Given the description of an element on the screen output the (x, y) to click on. 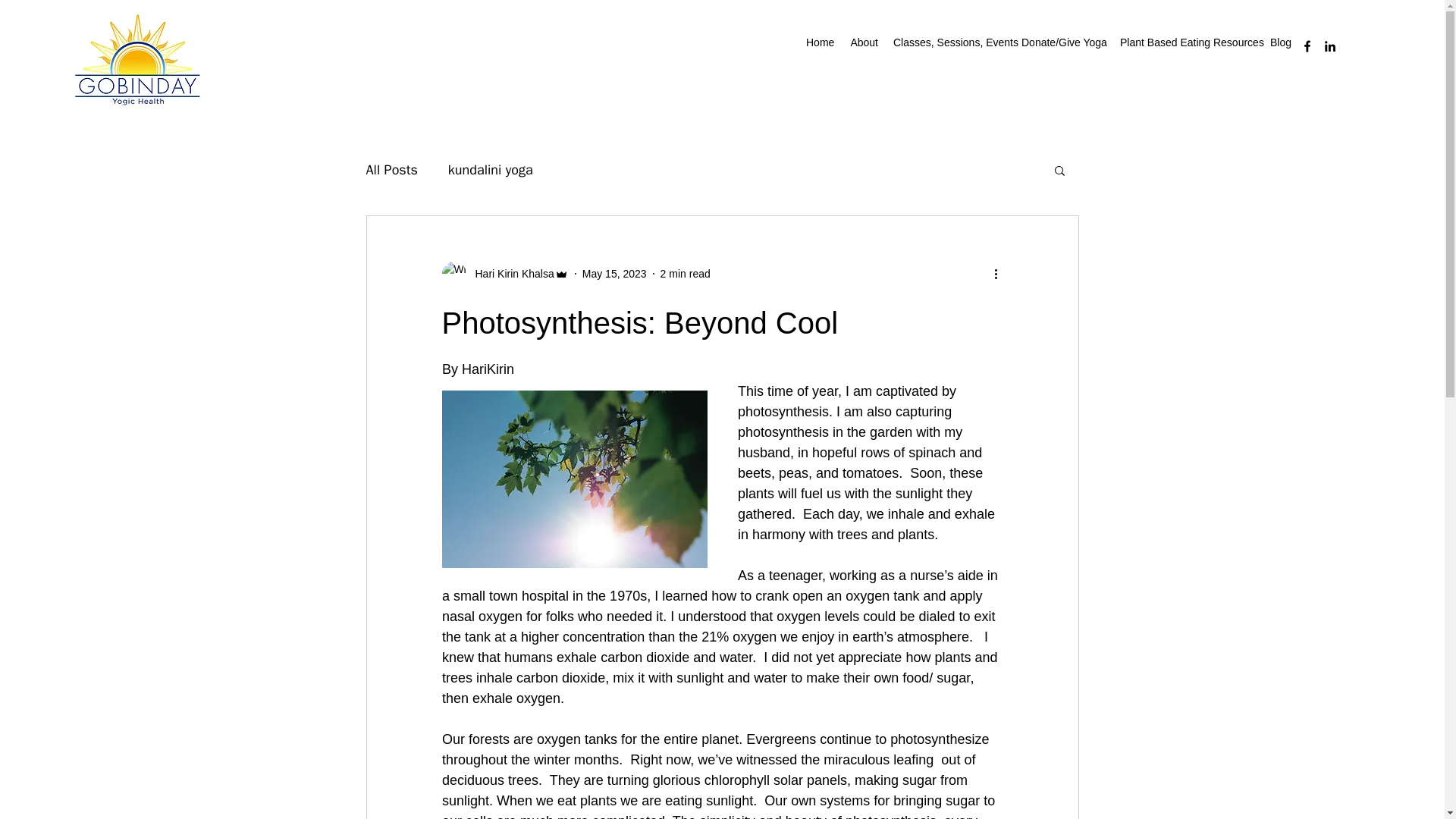
Plant Based Eating Resources (1187, 42)
All Posts (390, 169)
Blog (1280, 42)
Hari Kirin Khalsa (504, 273)
Classes, Sessions, Events (949, 42)
2 min read (685, 272)
Home (819, 42)
About (863, 42)
Hari Kirin Khalsa (509, 273)
May 15, 2023 (614, 272)
